Given the description of an element on the screen output the (x, y) to click on. 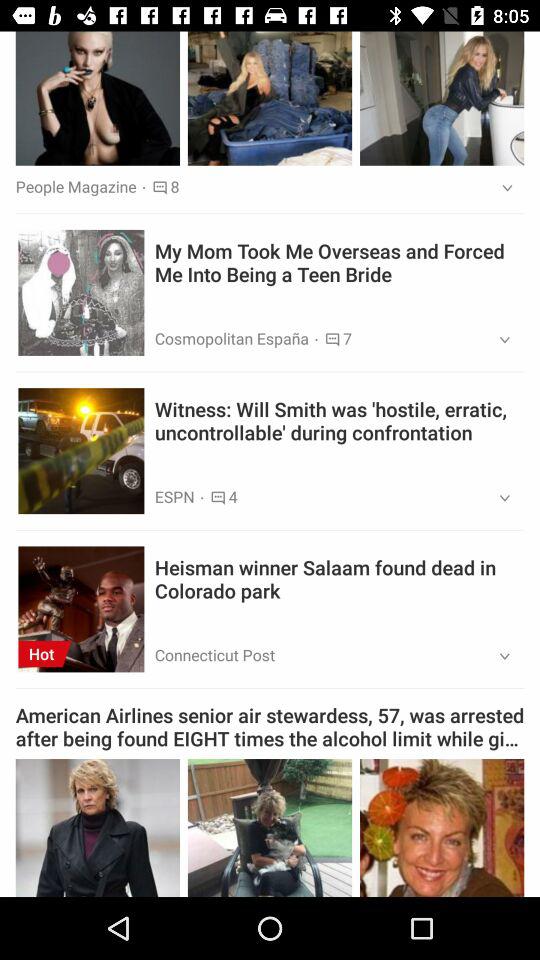
choose item below the my mom took (498, 340)
